Given the description of an element on the screen output the (x, y) to click on. 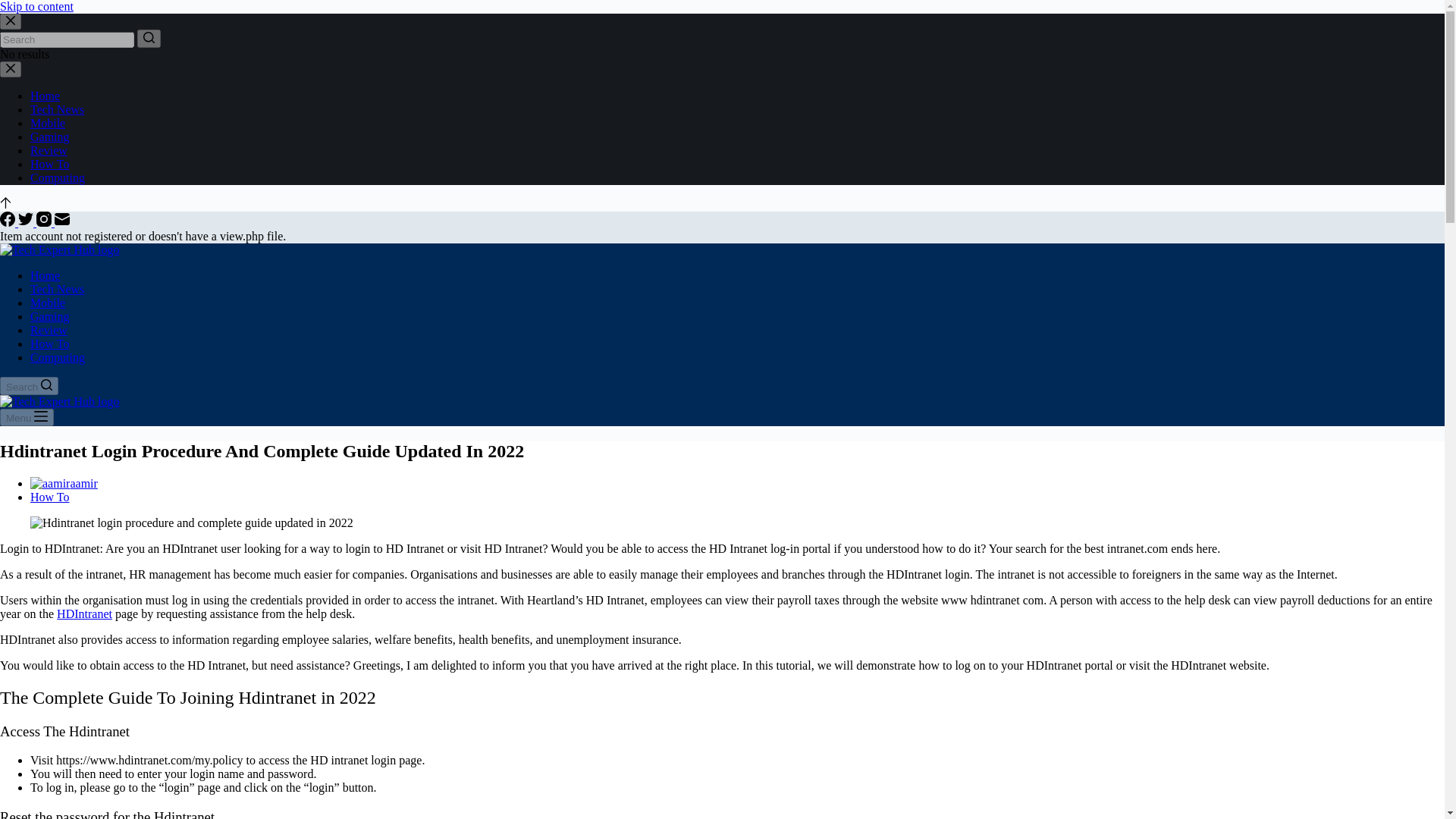
Mobile (47, 123)
Skip to content (37, 6)
Posts by aamir (83, 482)
Search for... (66, 39)
Tech News (57, 288)
Home (44, 275)
HDIntranet (84, 613)
How To (49, 343)
Computing (57, 357)
How To (49, 496)
